Given the description of an element on the screen output the (x, y) to click on. 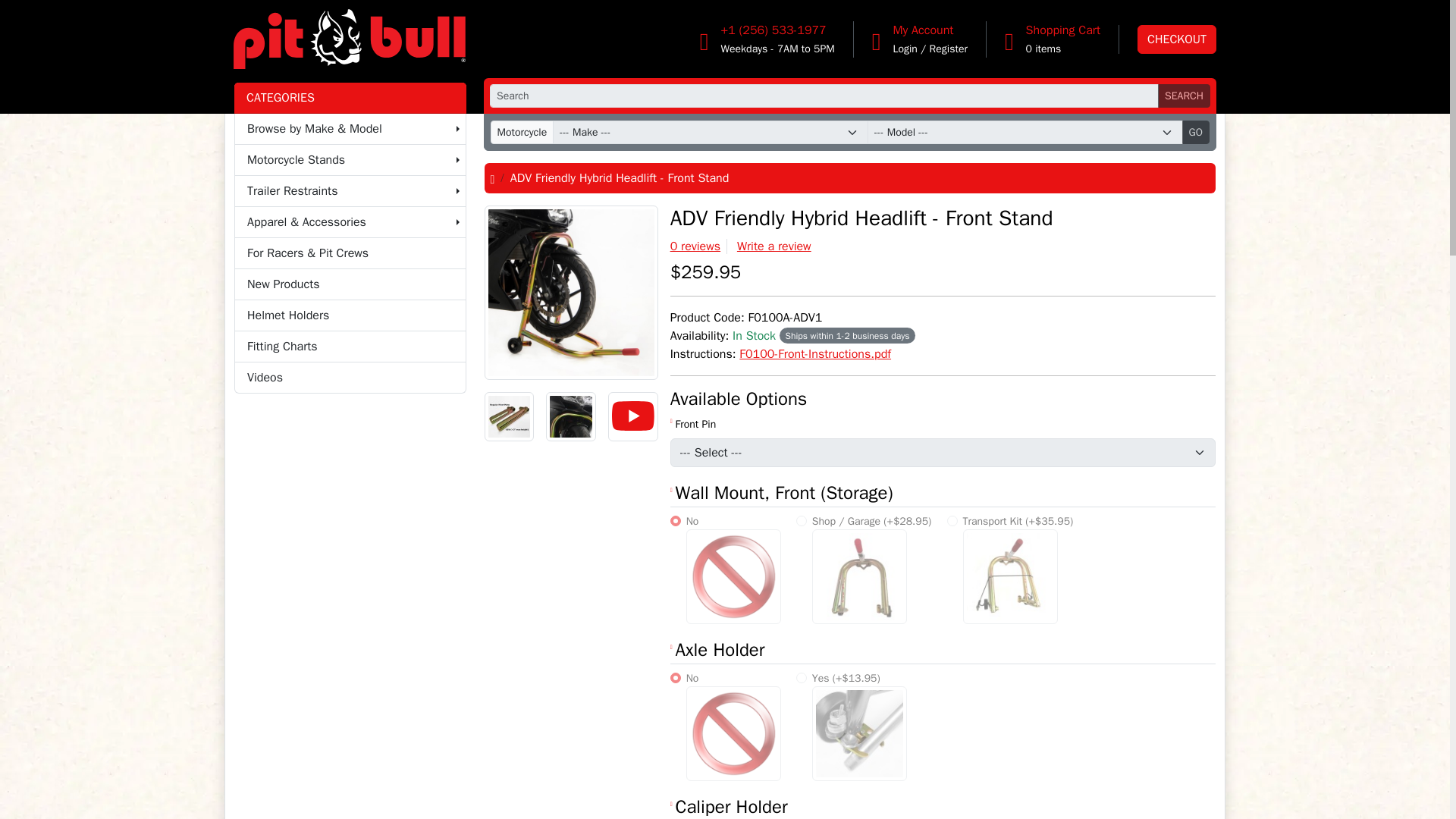
CHECKOUT (1176, 39)
4610 (952, 520)
4672 (675, 677)
Register (949, 48)
Shopping Cart (1063, 29)
4673 (801, 677)
Login (904, 48)
4608 (675, 520)
My Account (922, 29)
SEARCH (1183, 95)
